Given the description of an element on the screen output the (x, y) to click on. 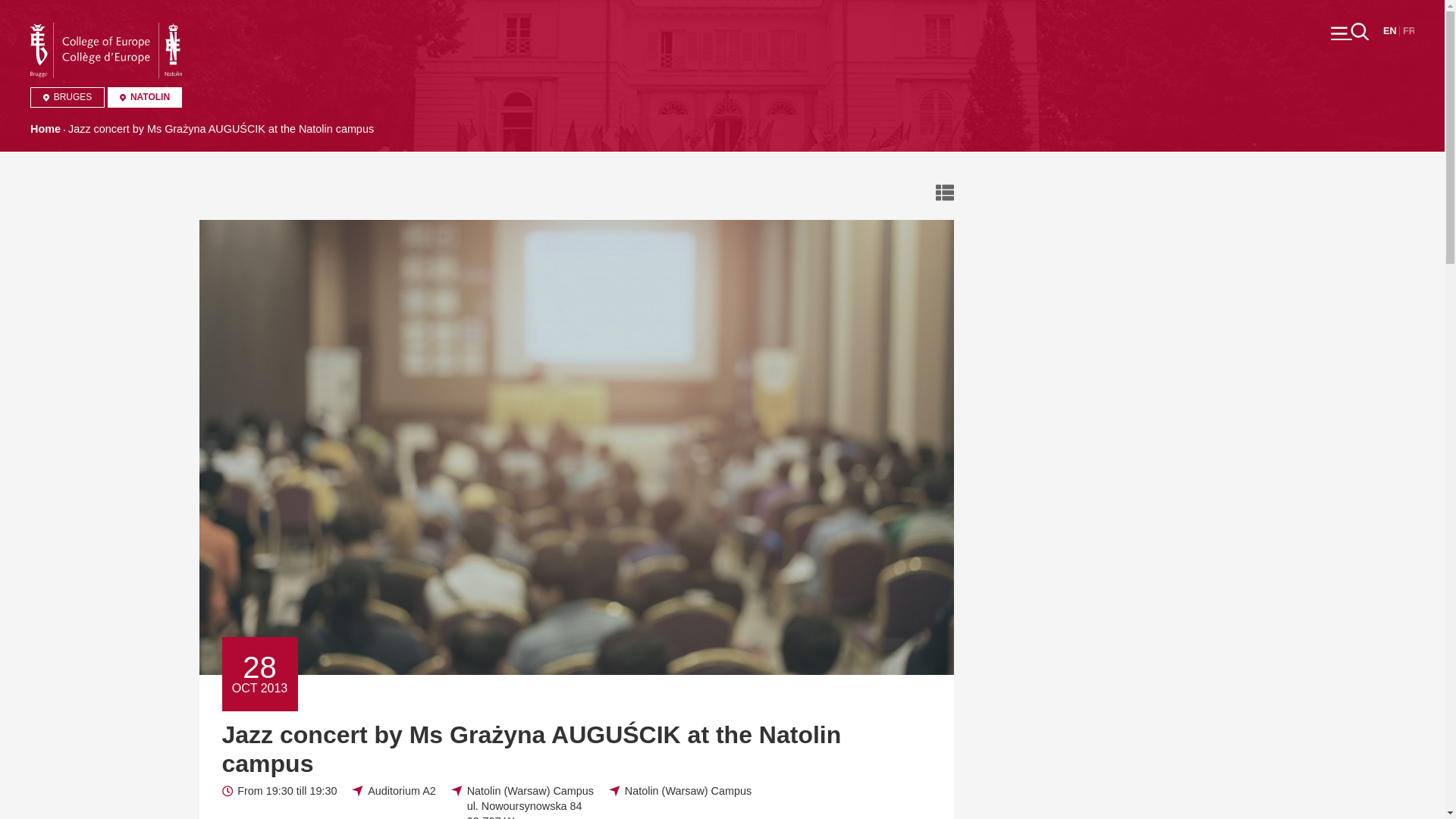
ENGLISH (1389, 31)
NATOLIN (144, 96)
BRUGES (67, 96)
Home (106, 30)
Home (45, 128)
